Given the description of an element on the screen output the (x, y) to click on. 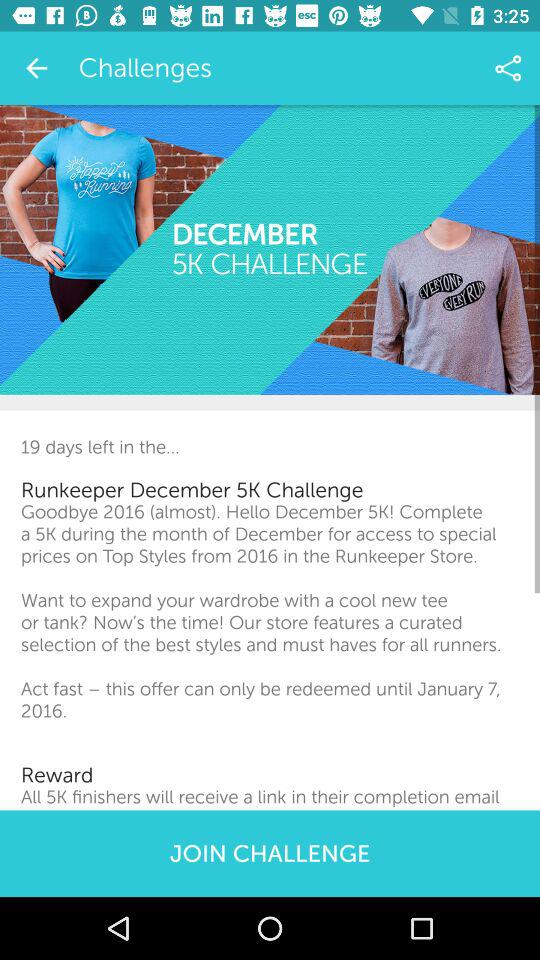
tap icon next to challenges (36, 68)
